Given the description of an element on the screen output the (x, y) to click on. 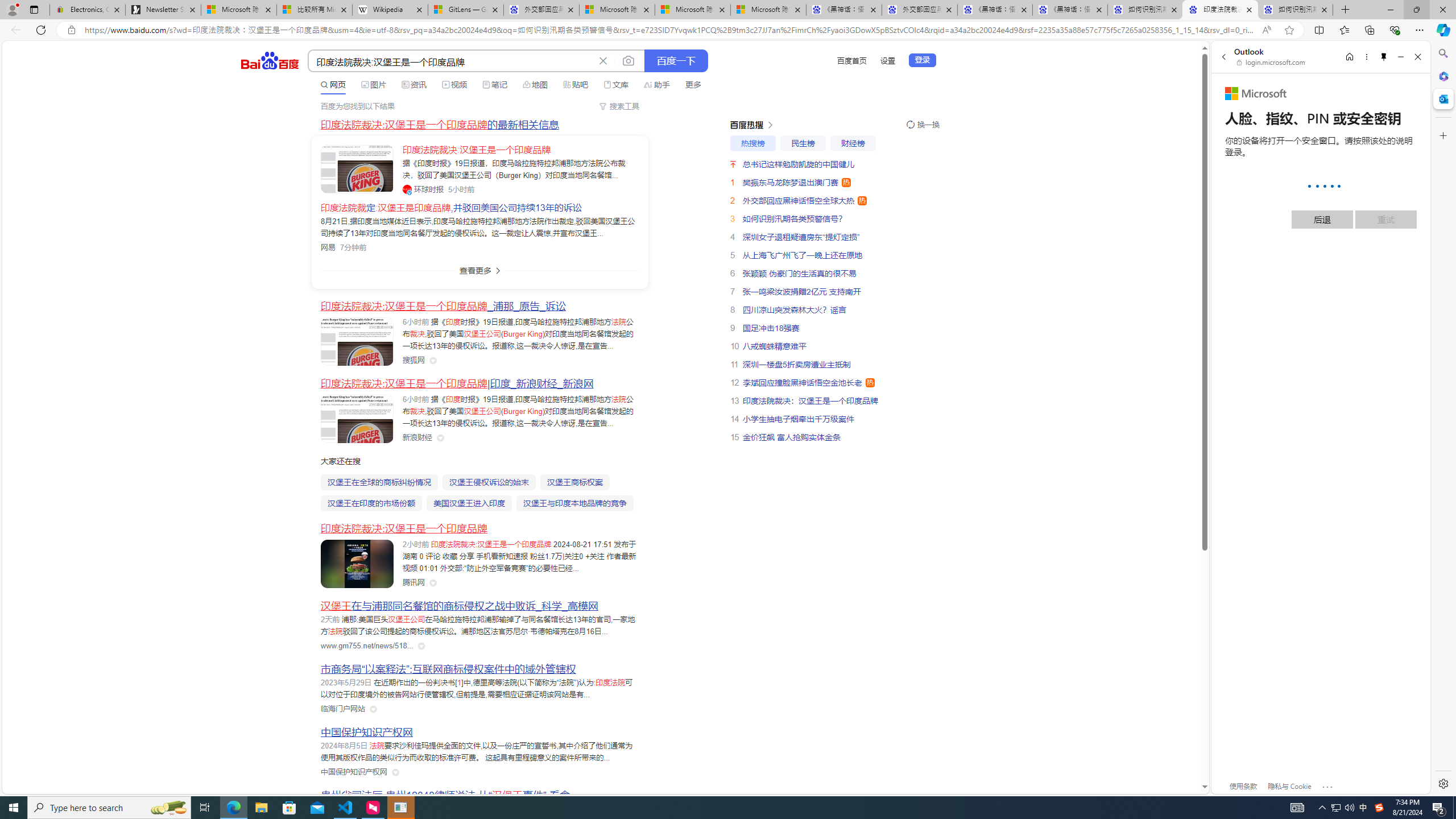
Newsletter Sign Up (162, 9)
AutomationID: kw (451, 61)
